Given the description of an element on the screen output the (x, y) to click on. 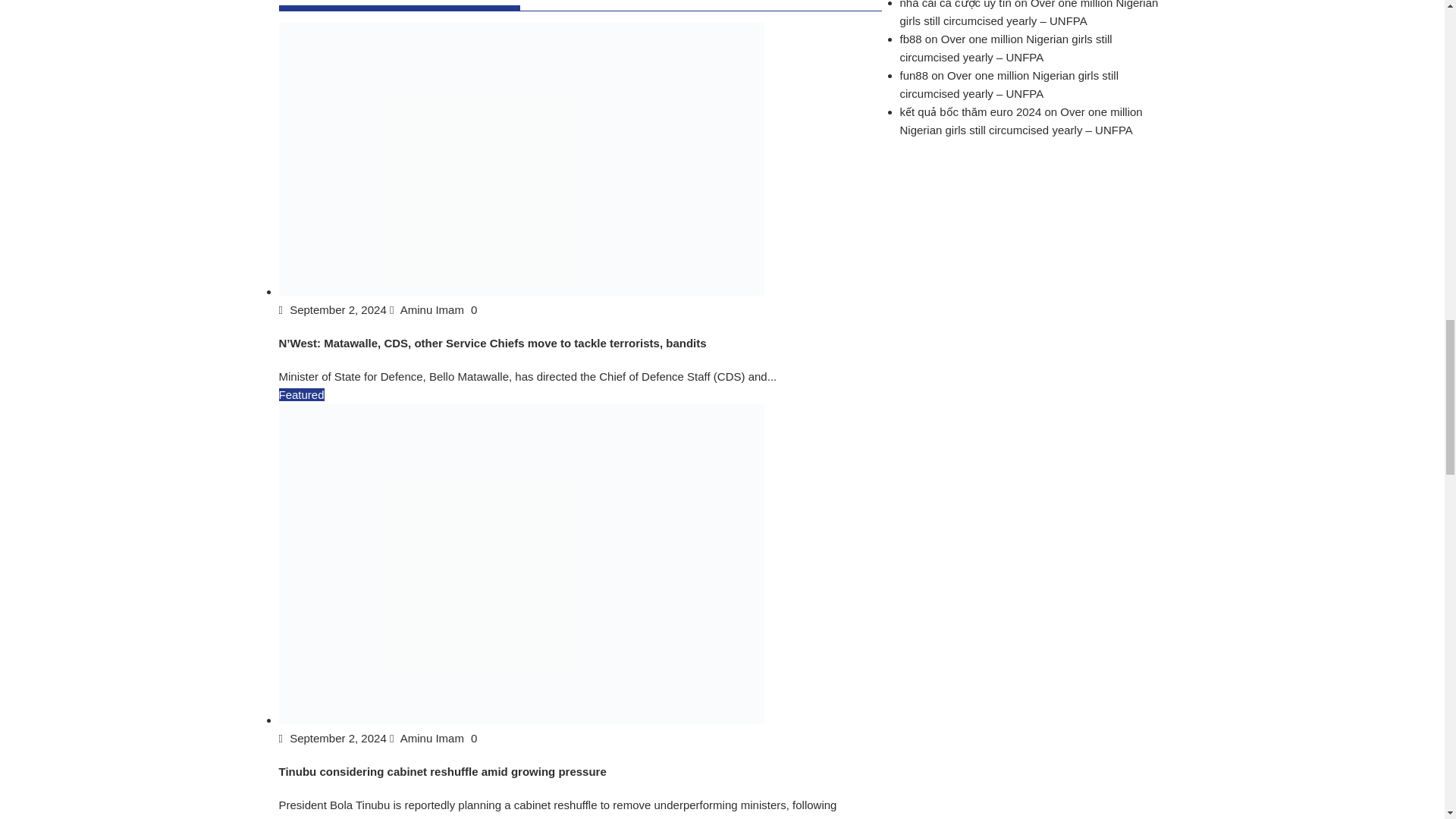
Aminu Imam (428, 309)
Aminu Imam (428, 738)
September 2, 2024 (334, 309)
Aminu Imam (428, 309)
